Given the description of an element on the screen output the (x, y) to click on. 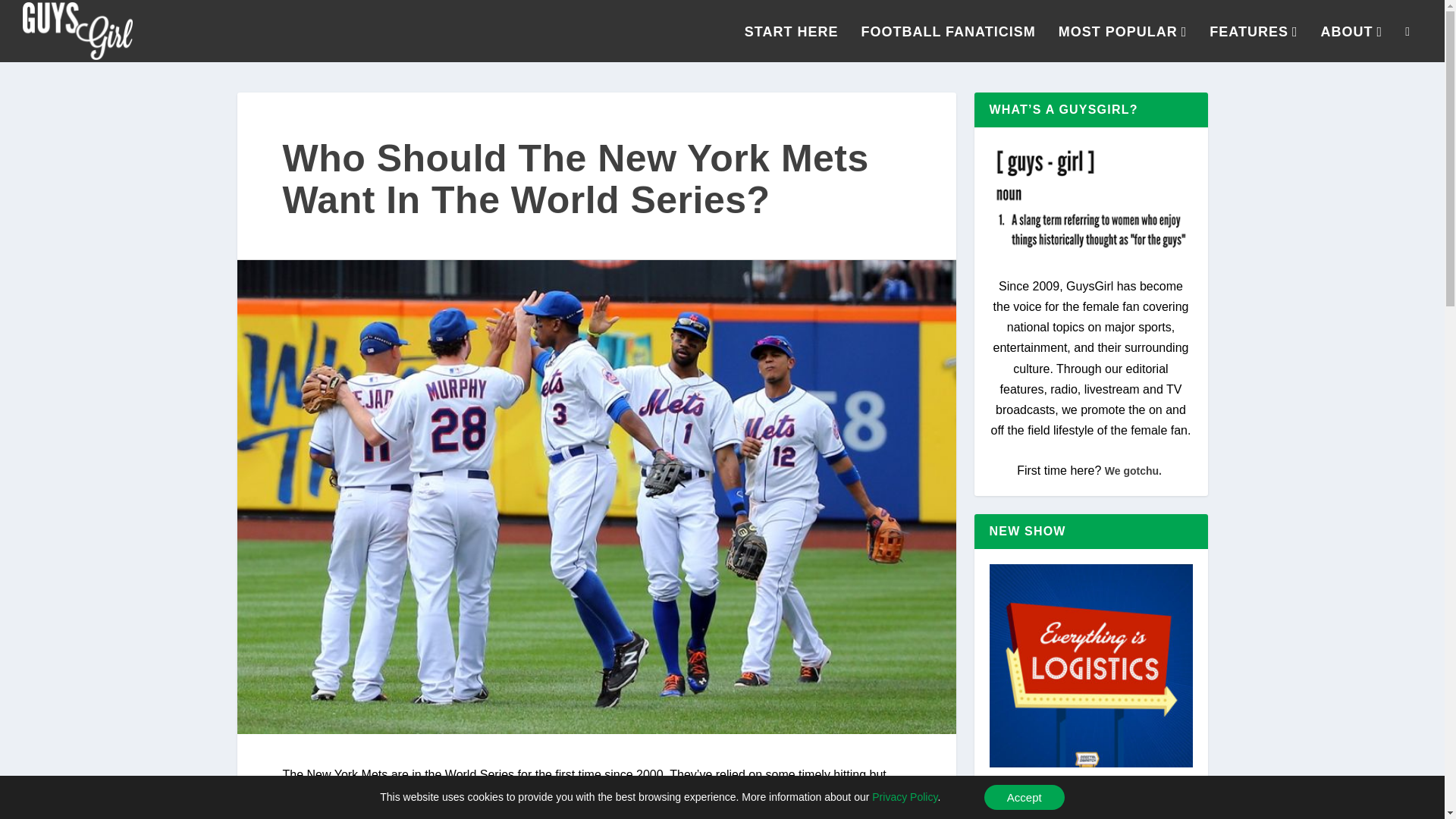
ABOUT (1351, 43)
MOST POPULAR (1123, 43)
FOOTBALL FANATICISM (947, 43)
FEATURES (1253, 43)
We gotchu.  (1134, 470)
START HERE (791, 43)
